Given the description of an element on the screen output the (x, y) to click on. 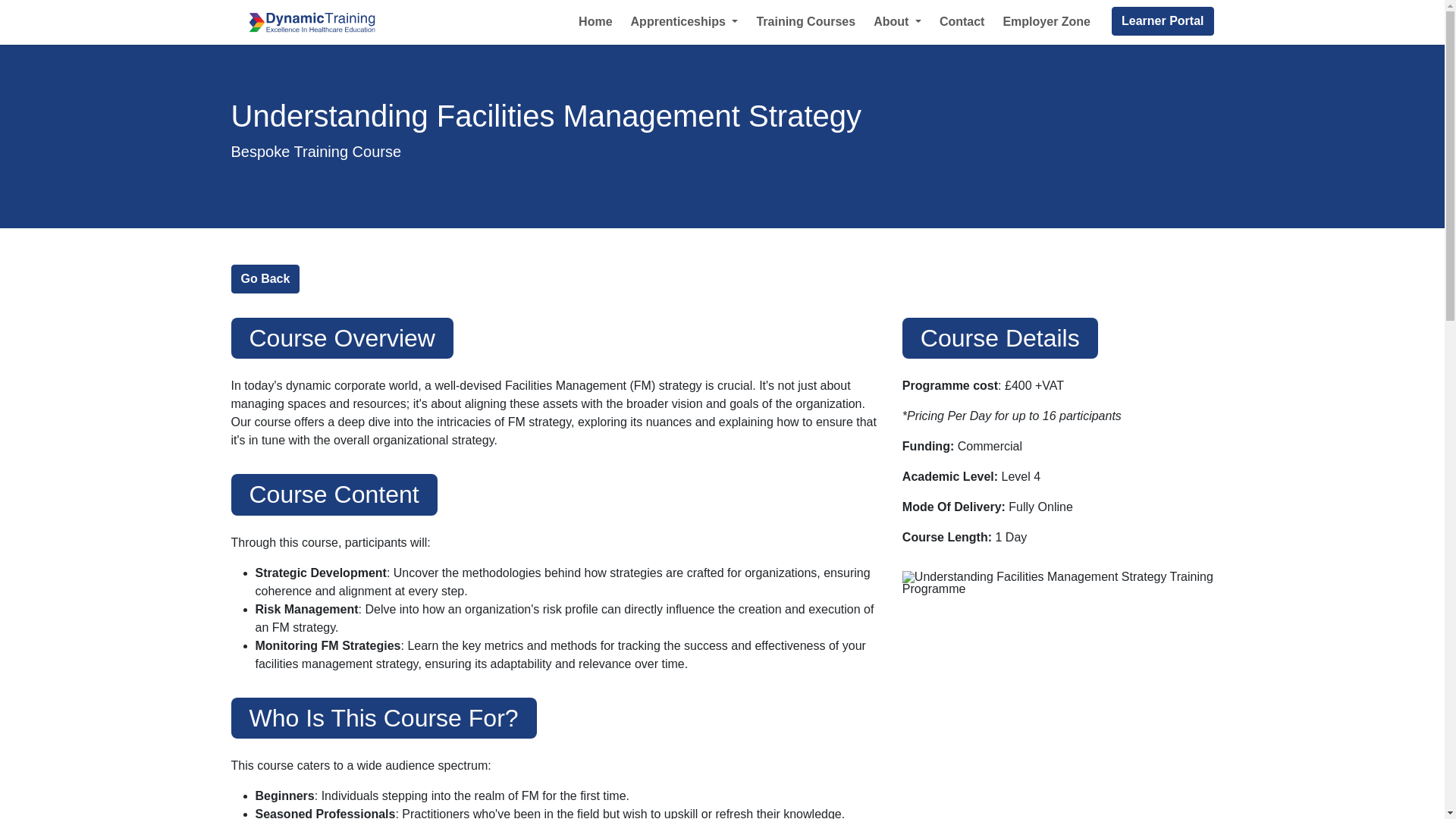
Go Back (264, 278)
About (897, 21)
Learner Portal (1162, 21)
Training Programmes (264, 278)
Employer Zone (1045, 21)
Home (595, 21)
Training Courses (805, 21)
Apprenticeships (684, 21)
Contact (962, 21)
